Given the description of an element on the screen output the (x, y) to click on. 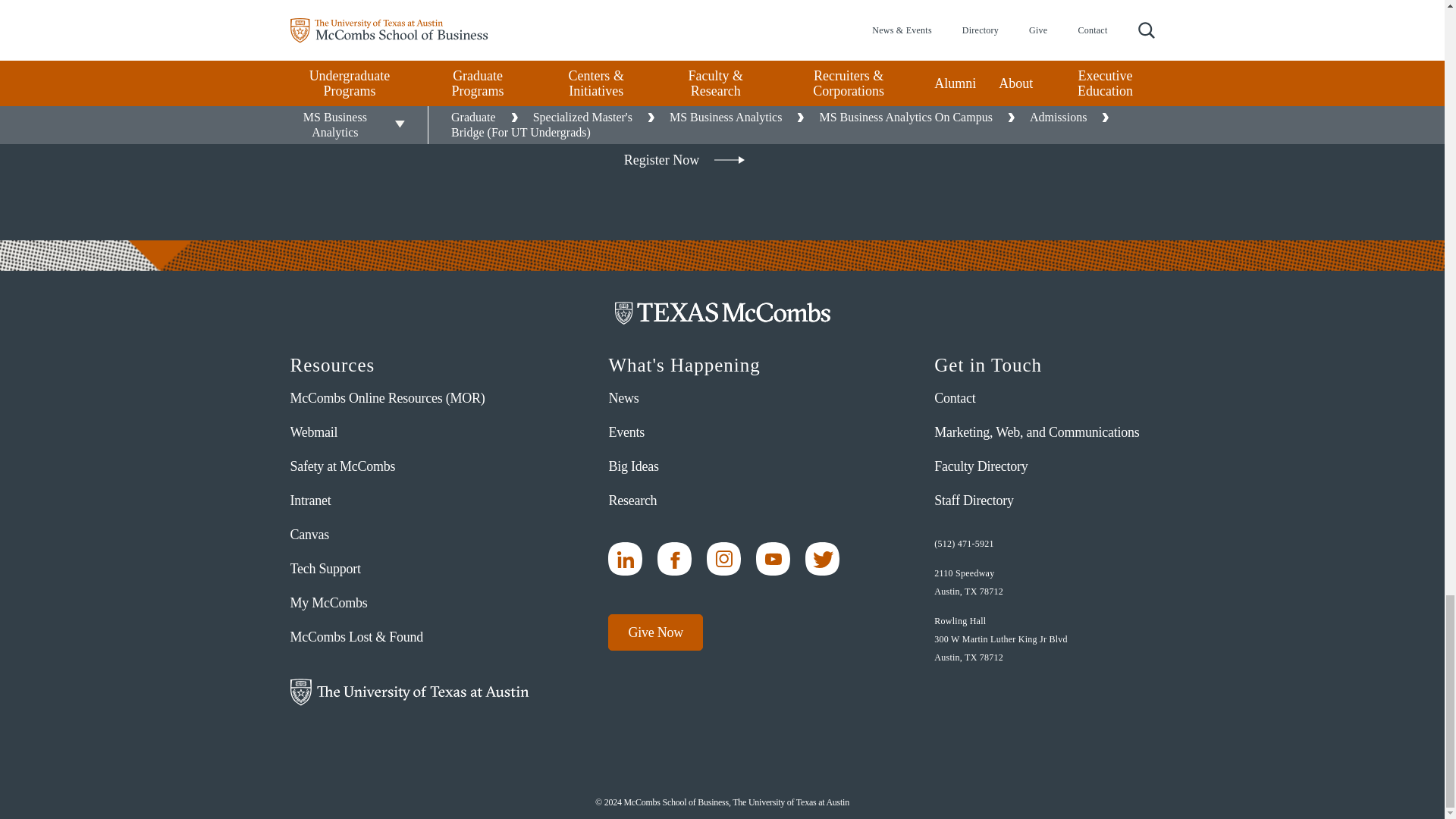
Facebook (674, 559)
University of Texas (408, 692)
University of Texas McCombs School of Business (721, 313)
LinkedIn (625, 559)
YouTube (772, 559)
Twitter (822, 559)
Instagram (723, 559)
